Given the description of an element on the screen output the (x, y) to click on. 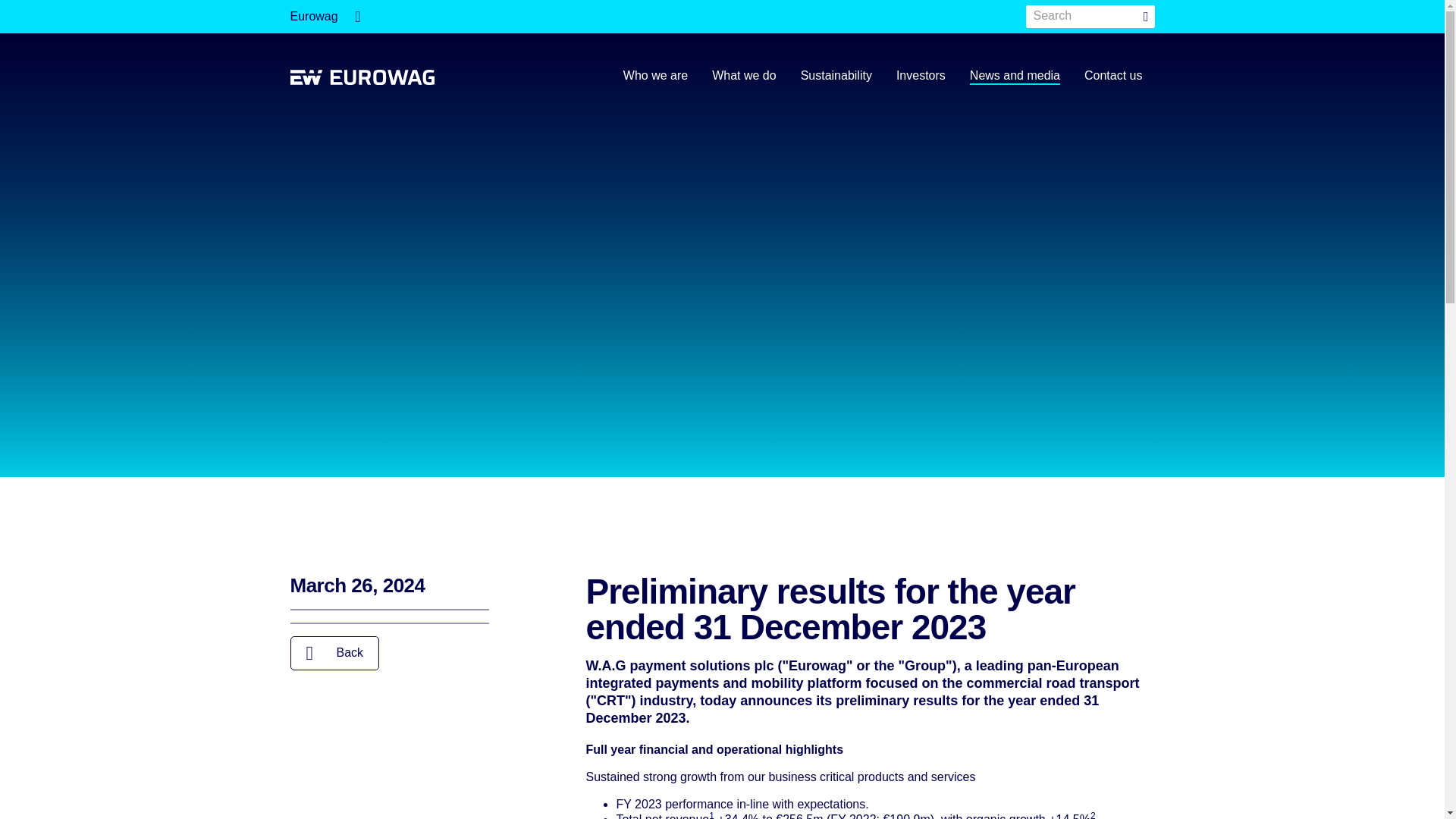
Eurowag (324, 16)
Logo (361, 77)
Logo (361, 78)
